Given the description of an element on the screen output the (x, y) to click on. 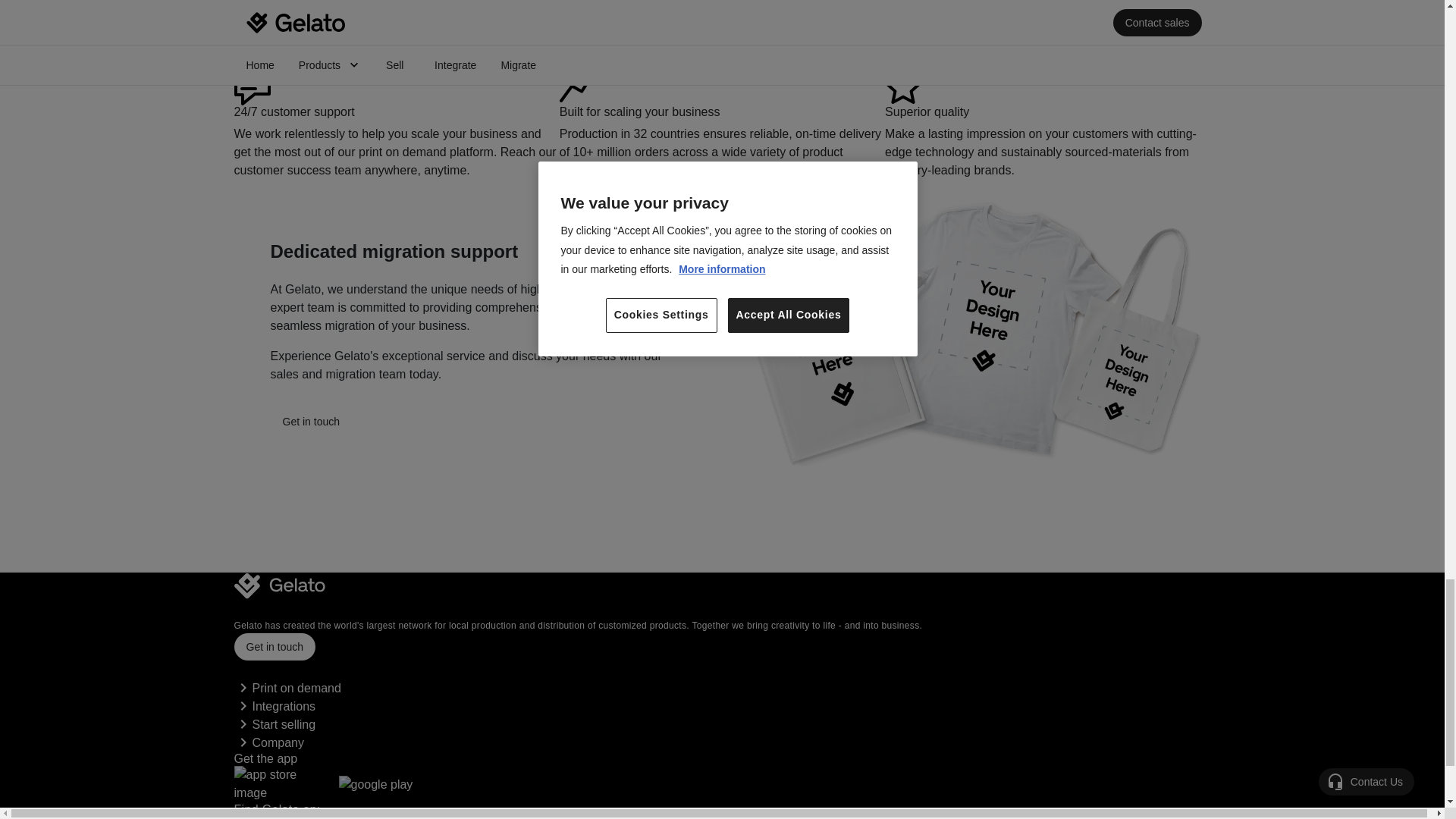
Get in touch (273, 655)
Get in touch (310, 420)
Get in touch (273, 646)
Get in touch (310, 430)
